Given the description of an element on the screen output the (x, y) to click on. 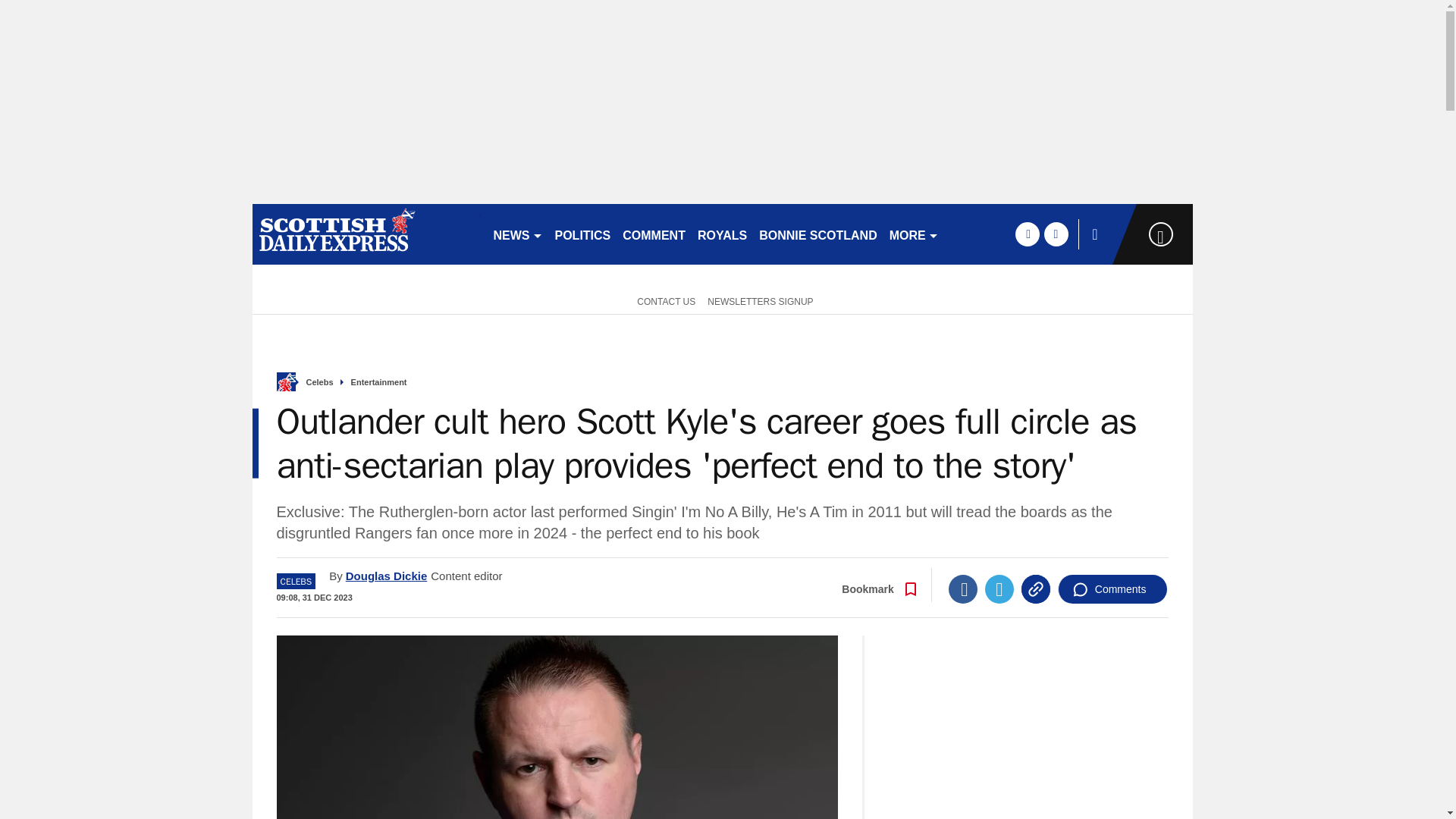
MORE (913, 233)
COMMENT (653, 233)
Celebs (319, 382)
Facebook (962, 588)
POLITICS (582, 233)
BONNIE SCOTLAND (817, 233)
scottishdailyexpress (365, 233)
ROYALS (721, 233)
frontpage (285, 381)
twitter (1055, 233)
